Given the description of an element on the screen output the (x, y) to click on. 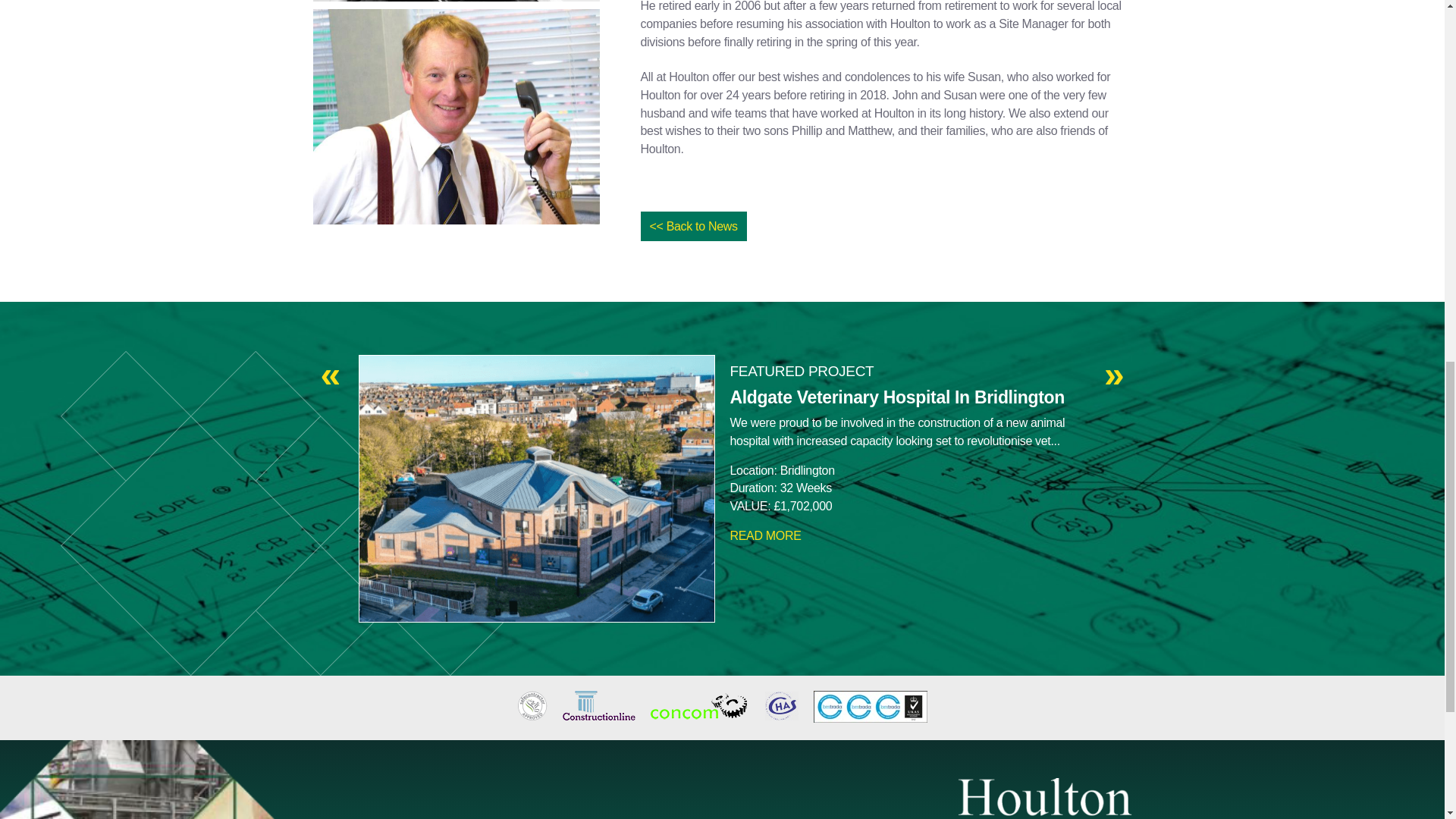
Back to News (692, 226)
